Given the description of an element on the screen output the (x, y) to click on. 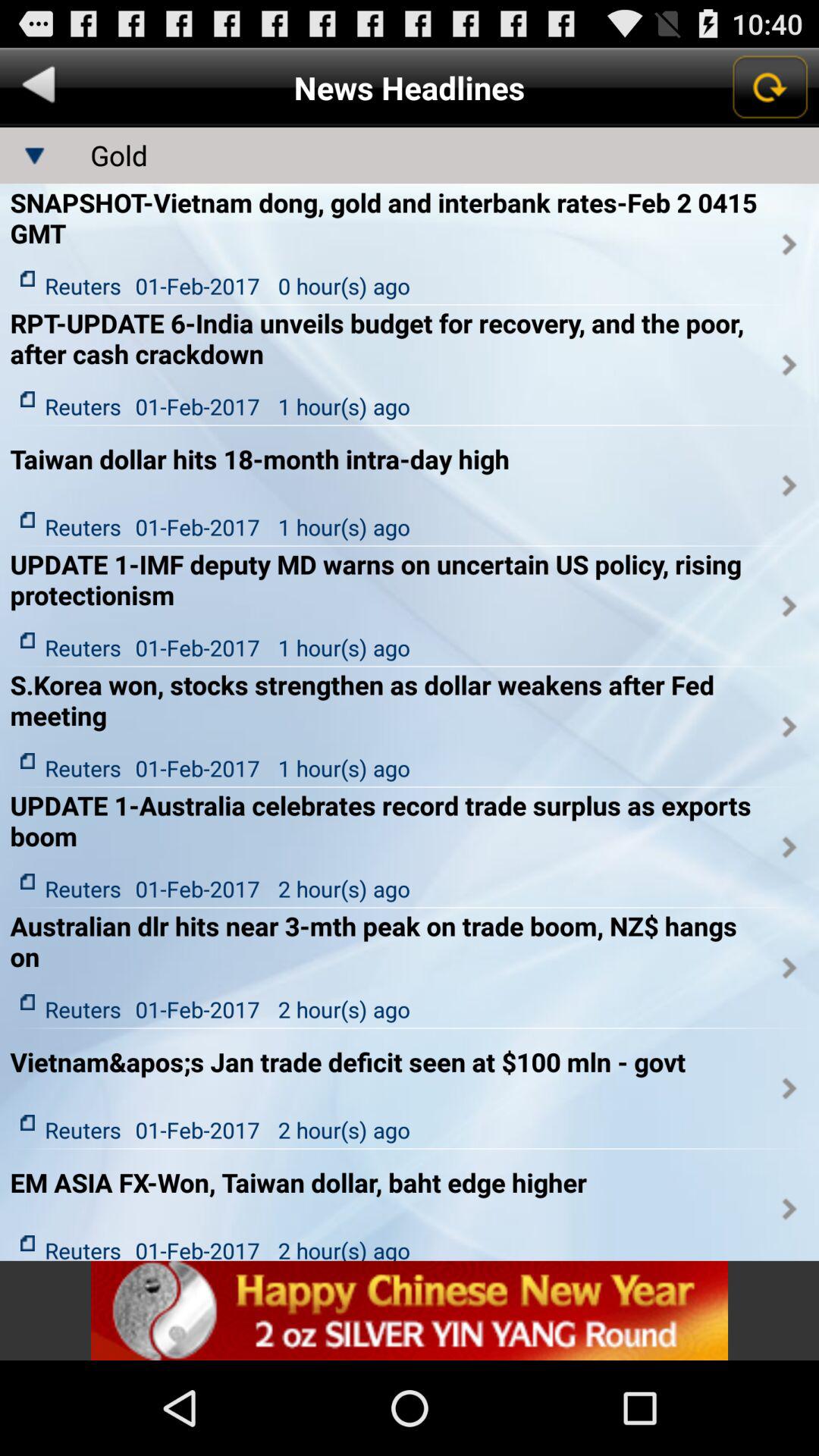
undo (39, 87)
